Given the description of an element on the screen output the (x, y) to click on. 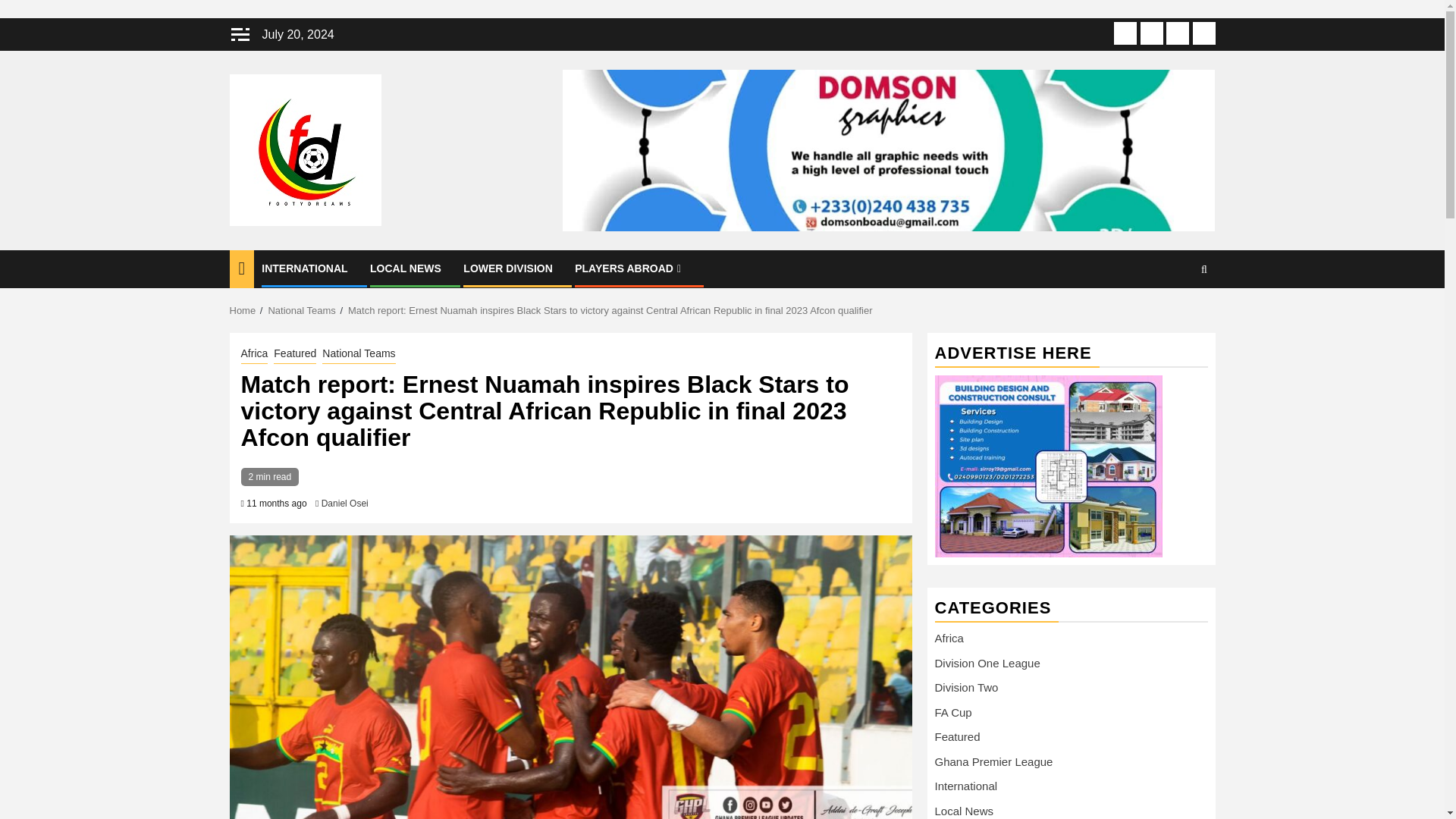
Daniel Osei (344, 502)
National Teams (300, 310)
Africa (254, 354)
Contact us (1203, 33)
Home (242, 310)
National Teams (357, 354)
Search (1174, 314)
Terms Of Use (1151, 33)
About us (1125, 33)
INTERNATIONAL (304, 268)
LOWER DIVISION (507, 268)
PLAYERS ABROAD (629, 268)
Featured (294, 354)
Privacy Policy (1177, 33)
